Given the description of an element on the screen output the (x, y) to click on. 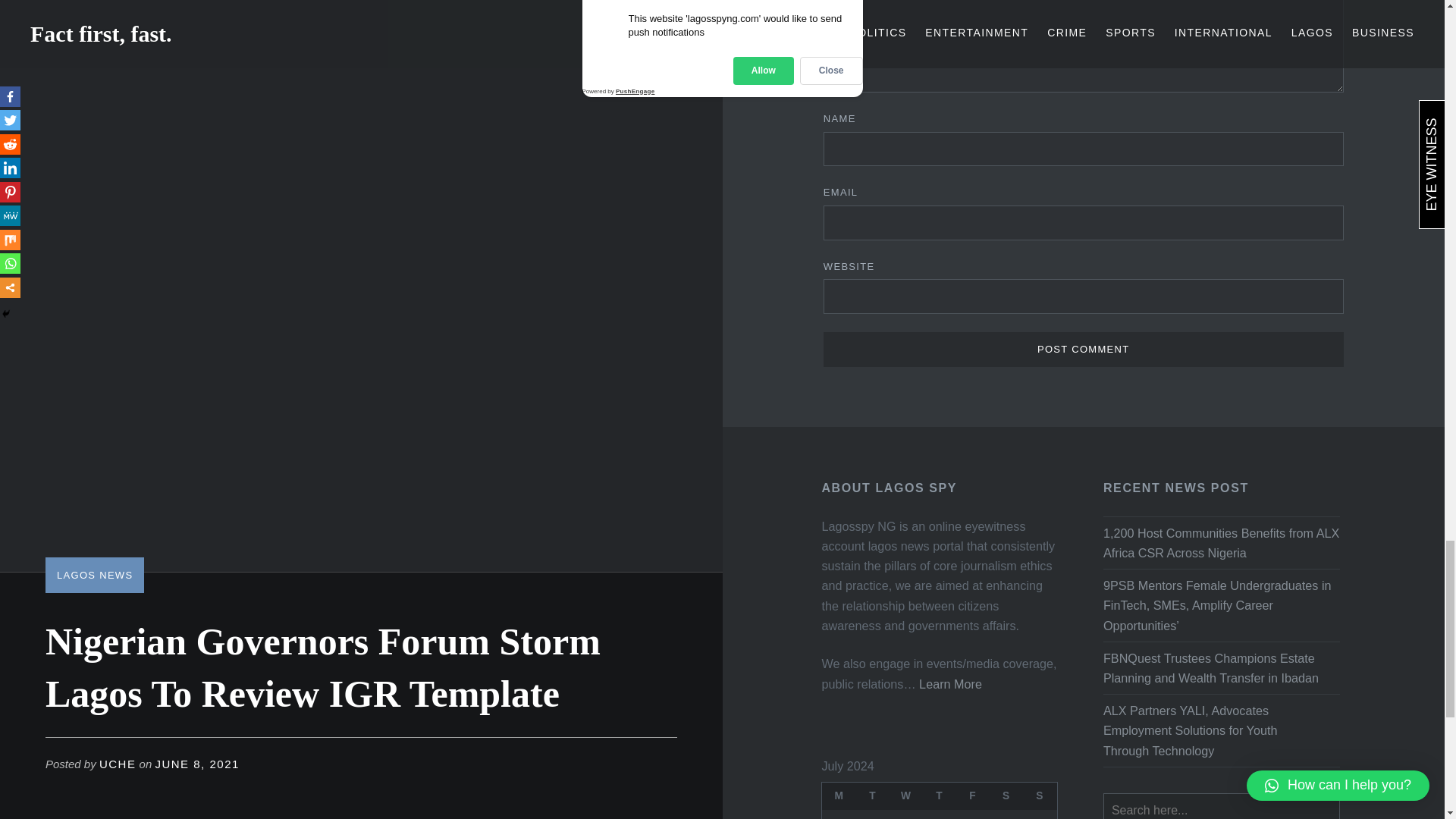
Thursday (939, 795)
Friday (973, 795)
Monday (839, 795)
Post Comment (1083, 349)
Wednesday (906, 795)
Post Comment (1083, 349)
Learn More (948, 684)
Saturday (1006, 795)
Tuesday (872, 795)
